Given the description of an element on the screen output the (x, y) to click on. 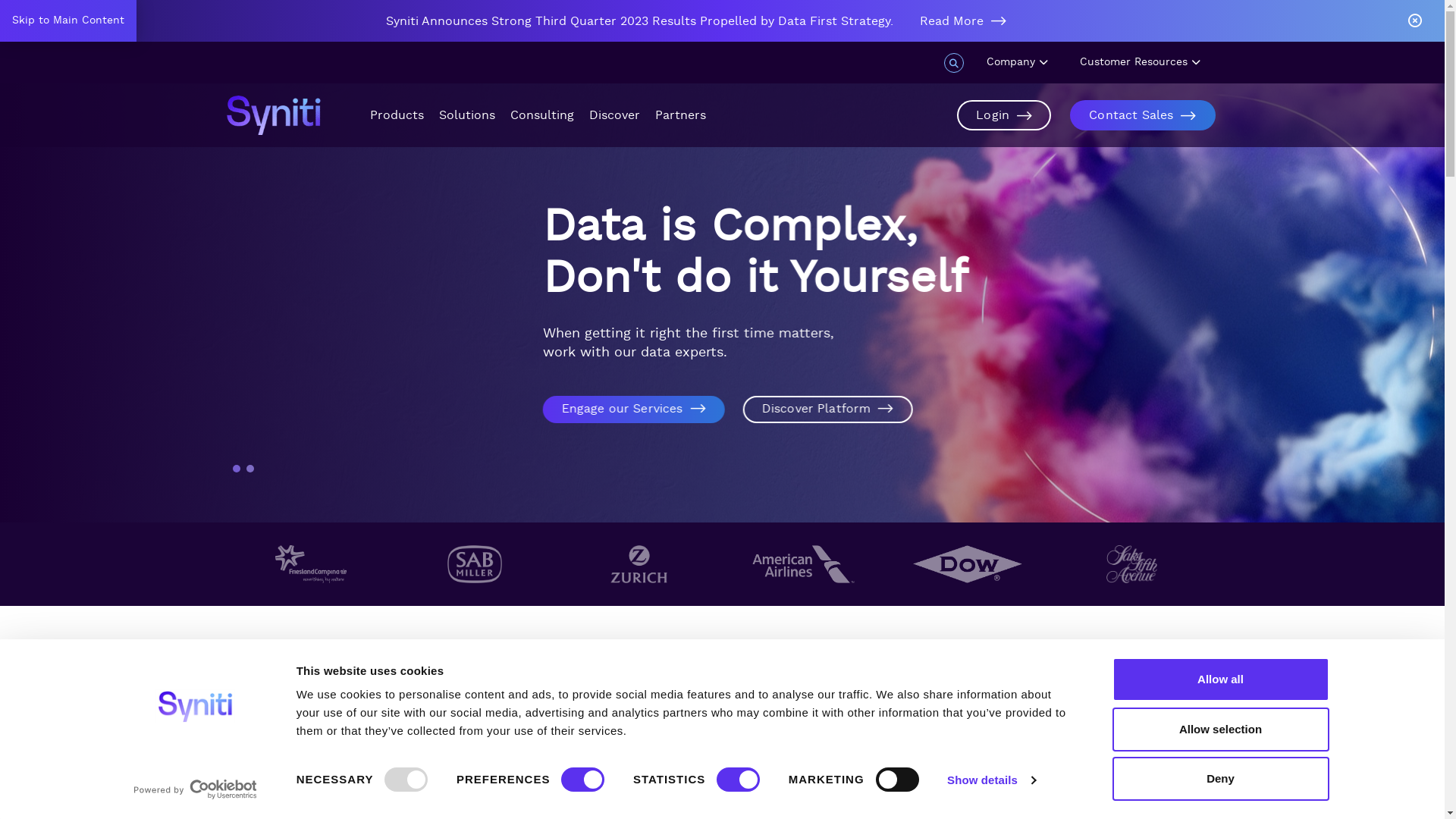
Company Element type: text (1023, 62)
Allow selection Element type: text (1219, 728)
Customer Resources Element type: text (1147, 62)
Allow all Element type: text (1219, 679)
Products Element type: text (396, 115)
READ MORE Element type: text (722, 780)
Partners Element type: text (680, 115)
Show details Element type: text (991, 779)
READ MORE Element type: text (373, 761)
Migration Software Element type: text (316, 390)
Contact Sales Element type: text (1142, 115)
Search Element type: text (1194, 41)
Solutions Element type: text (466, 115)
Syniti Element type: hover (272, 114)
Login Element type: text (1004, 115)
Read More Element type: text (973, 21)
Discover Element type: text (613, 115)
SAP Migrations Element type: text (499, 390)
Skip to Main Content Element type: text (68, 20)
Consulting Element type: text (541, 115)
Deny Element type: text (1219, 778)
READ MORE Element type: text (1071, 780)
